Given the description of an element on the screen output the (x, y) to click on. 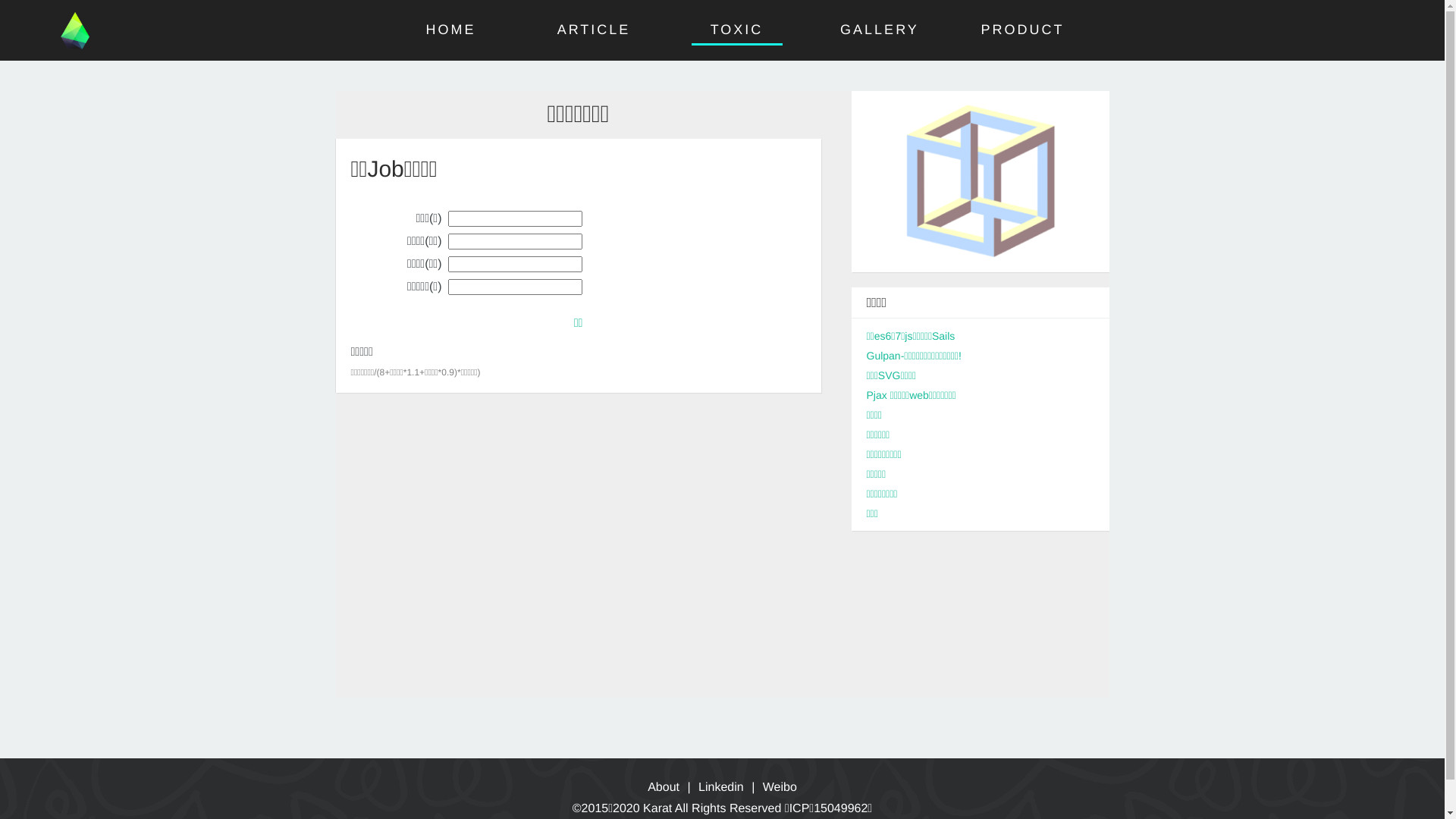
Linkedin Element type: text (720, 787)
ARTICLE Element type: text (593, 29)
About Element type: text (663, 787)
GALLERY Element type: text (879, 29)
PRODUCT Element type: text (1021, 29)
TOXIC Element type: text (736, 29)
HOME Element type: text (451, 29)
Weibo Element type: text (779, 787)
